Given the description of an element on the screen output the (x, y) to click on. 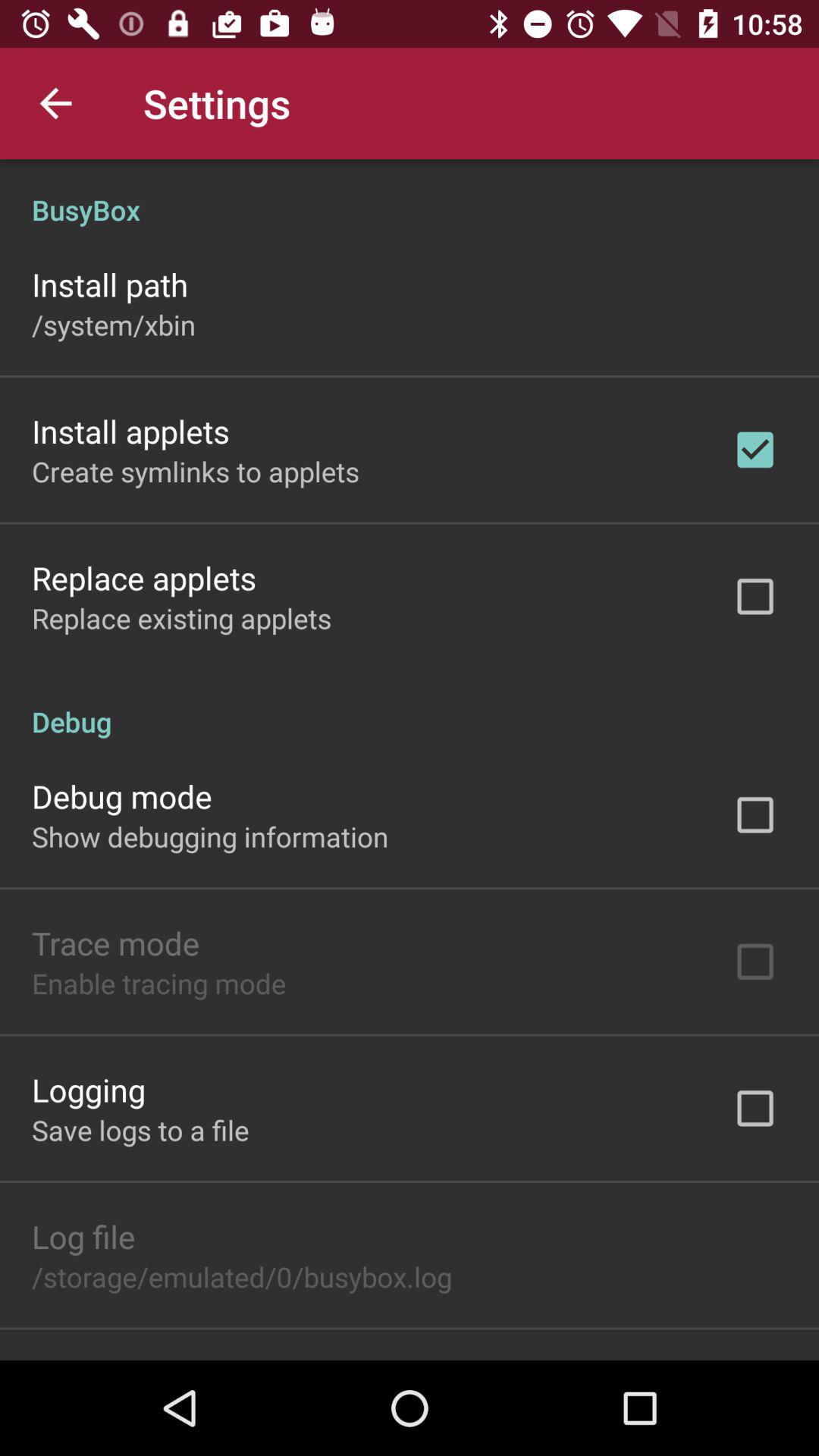
launch the icon below the trace mode item (158, 983)
